Given the description of an element on the screen output the (x, y) to click on. 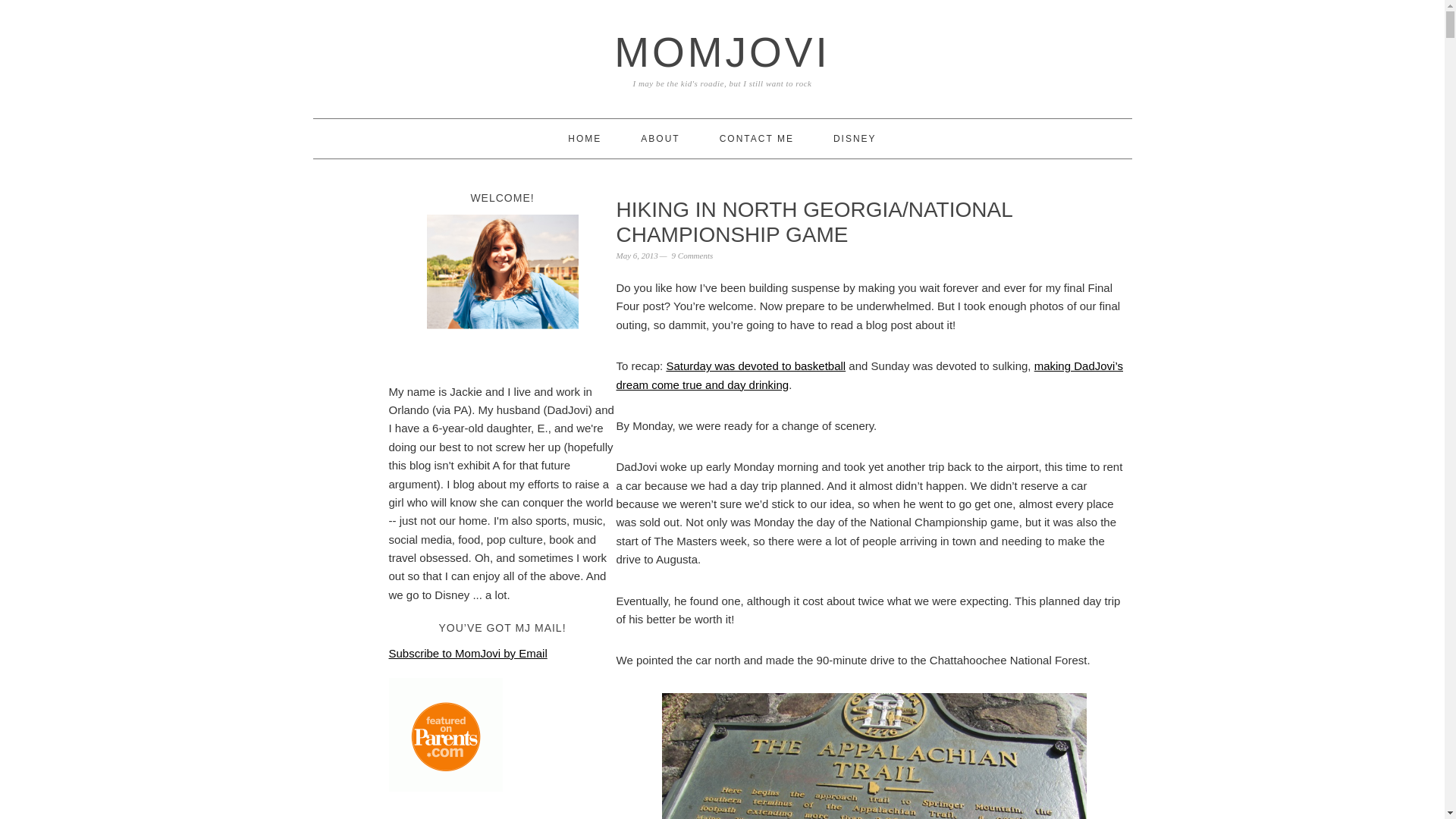
Saturday was devoted to basketball (755, 365)
DISNEY (854, 138)
parents-badge (445, 734)
9 Comments (692, 255)
MOMJOVI (721, 52)
ABOUT (659, 138)
HOME (584, 138)
CONTACT ME (756, 138)
Jackie-dock1x1 (502, 290)
